Given the description of an element on the screen output the (x, y) to click on. 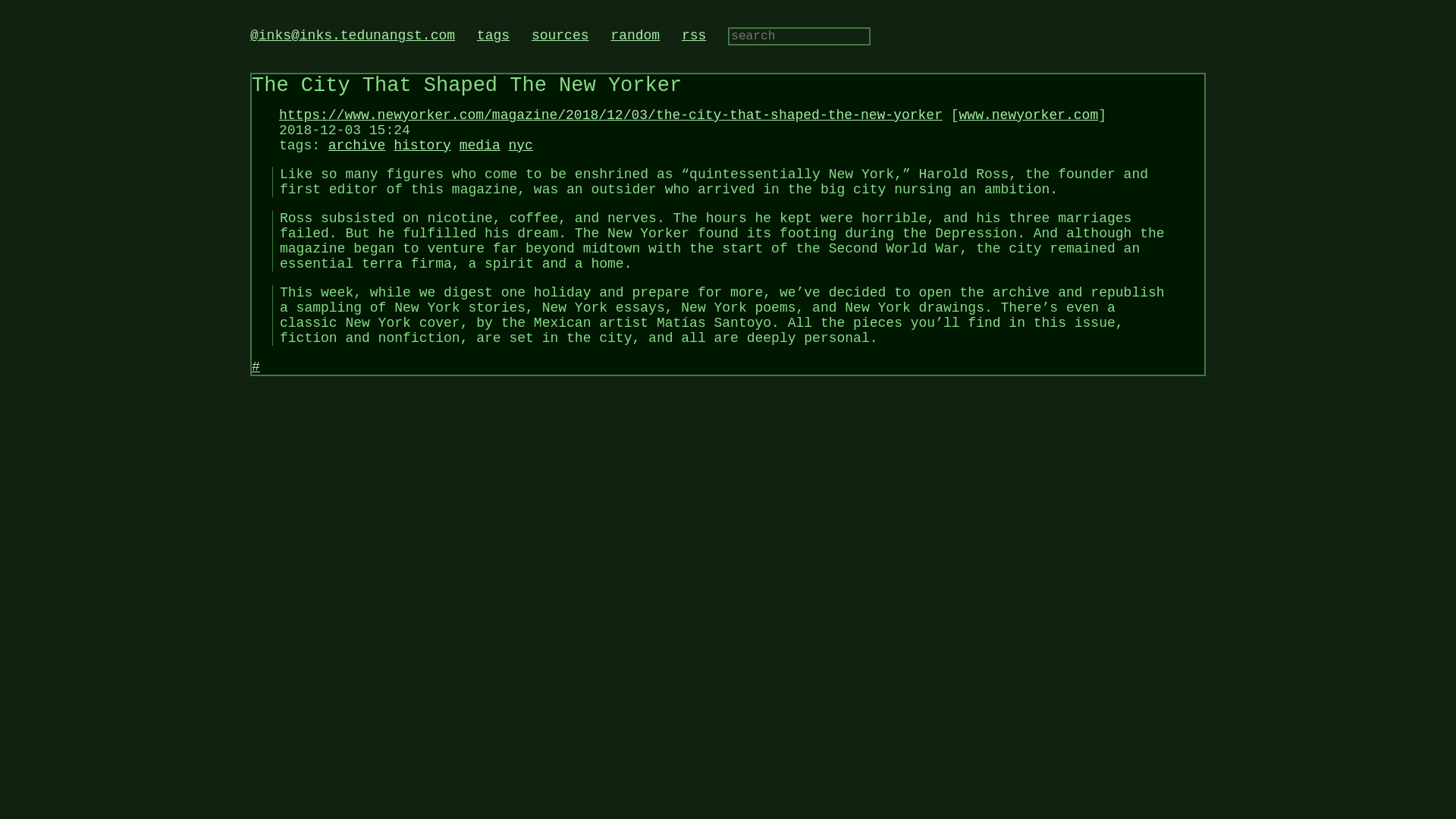
archive (357, 145)
www.newyorker.com (1029, 114)
random (634, 35)
history (422, 145)
tags (493, 35)
sources (560, 35)
media (480, 145)
nyc (520, 145)
follow via activitypub (352, 35)
rss (693, 35)
